Given the description of an element on the screen output the (x, y) to click on. 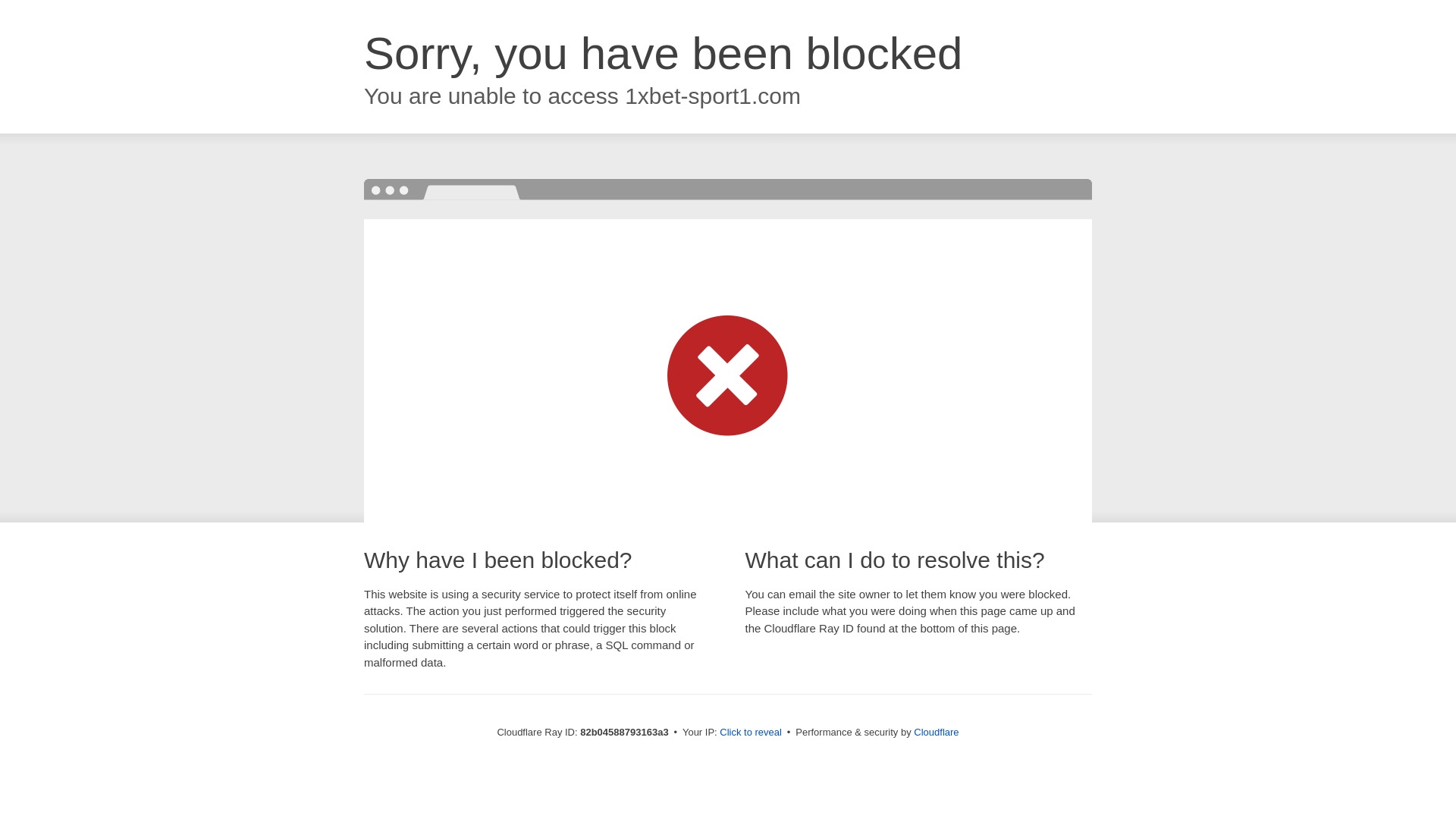
Click to reveal Element type: text (750, 732)
Cloudflare Element type: text (935, 731)
